Given the description of an element on the screen output the (x, y) to click on. 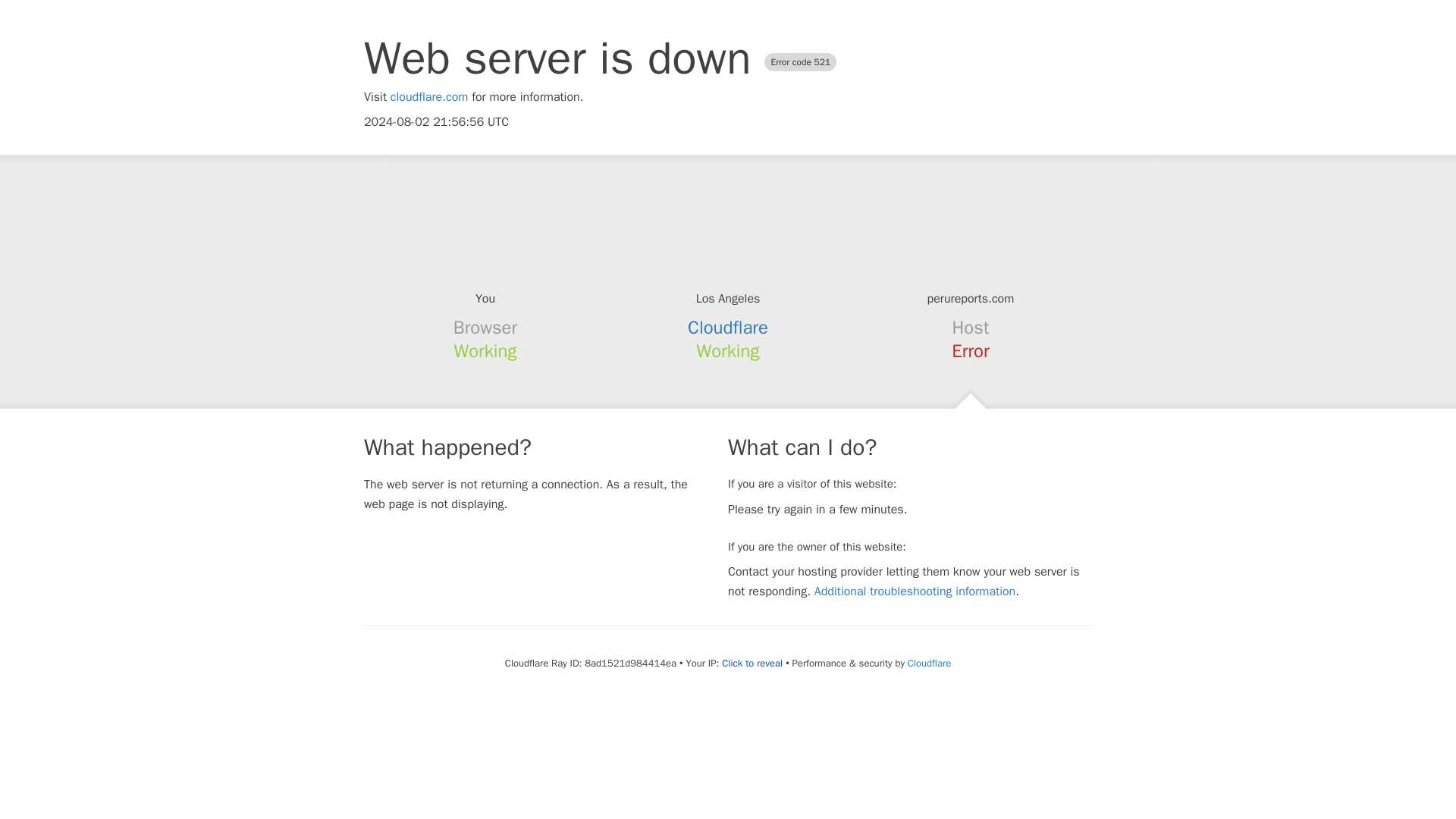
Cloudflare (727, 327)
Additional troubleshooting information (913, 590)
Click to reveal (752, 663)
cloudflare.com (429, 96)
Cloudflare (928, 662)
